Given the description of an element on the screen output the (x, y) to click on. 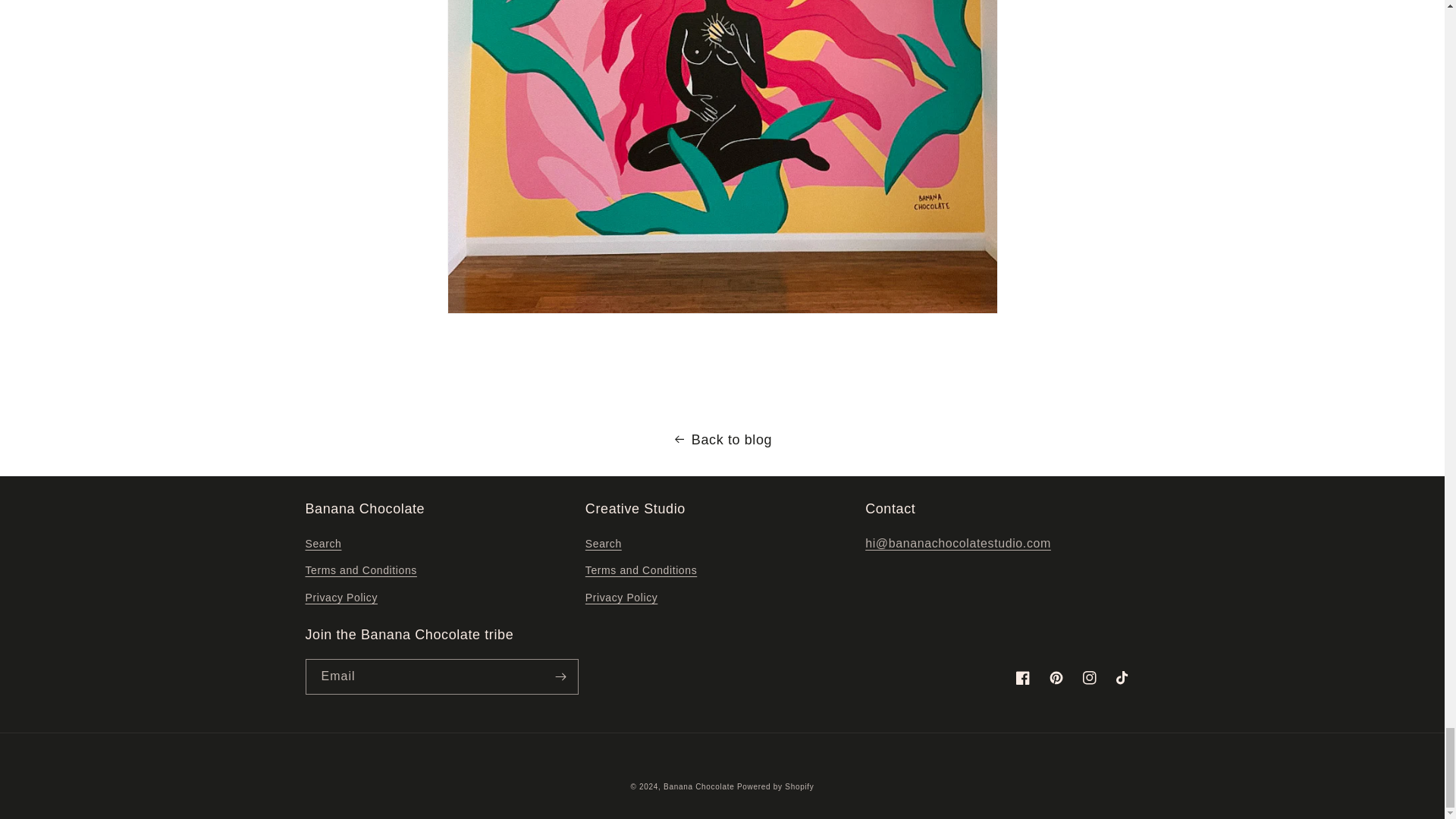
Get in touch (957, 543)
Privacy Policy (621, 597)
Terms and Conditions (641, 570)
Search (322, 545)
Instagram (1088, 677)
Search (603, 545)
Pinterest (1055, 677)
Facebook (1022, 677)
Privacy Policy (340, 597)
Terms and Conditions (360, 570)
